Given the description of an element on the screen output the (x, y) to click on. 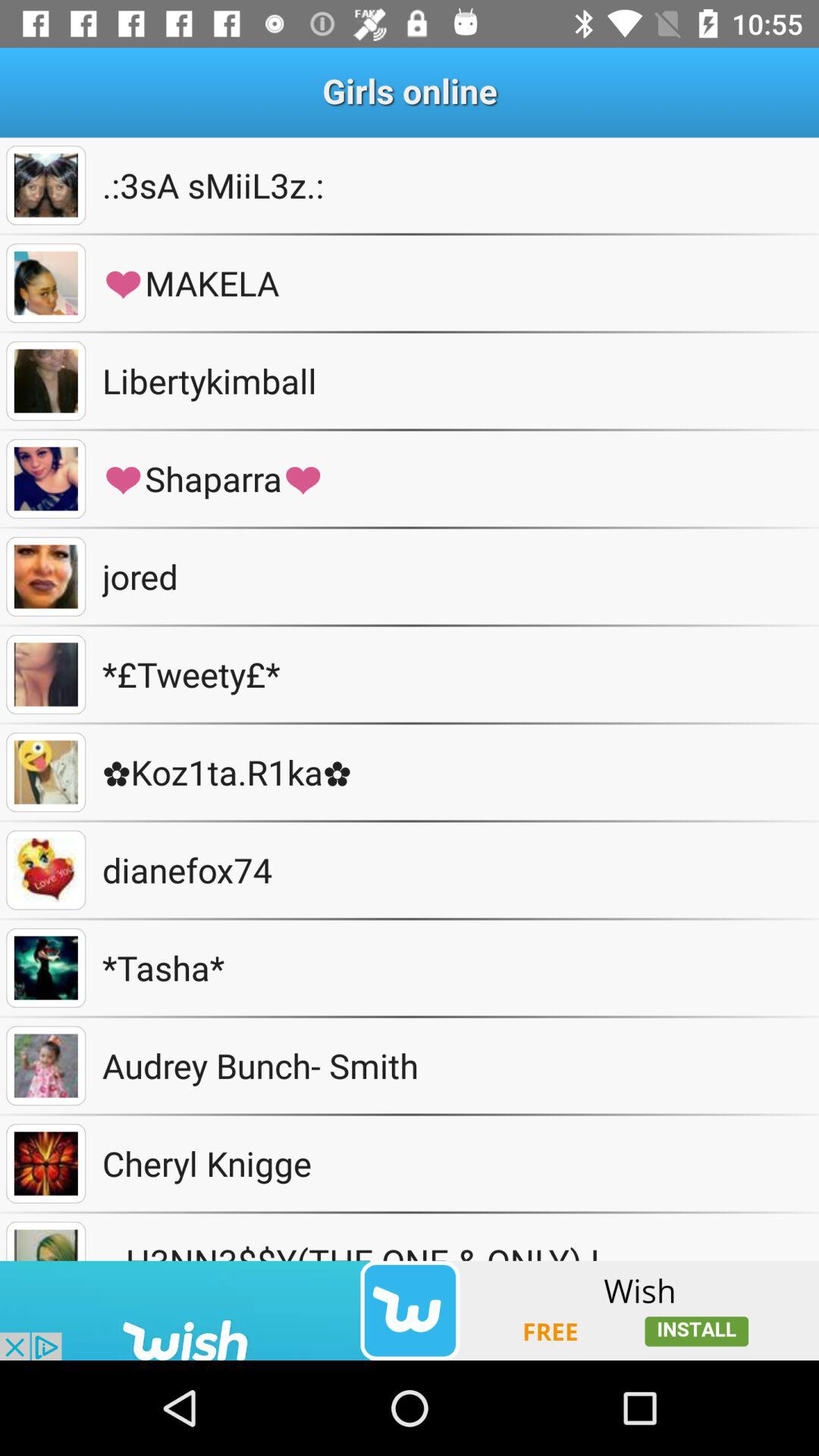
sum button (45, 674)
